Given the description of an element on the screen output the (x, y) to click on. 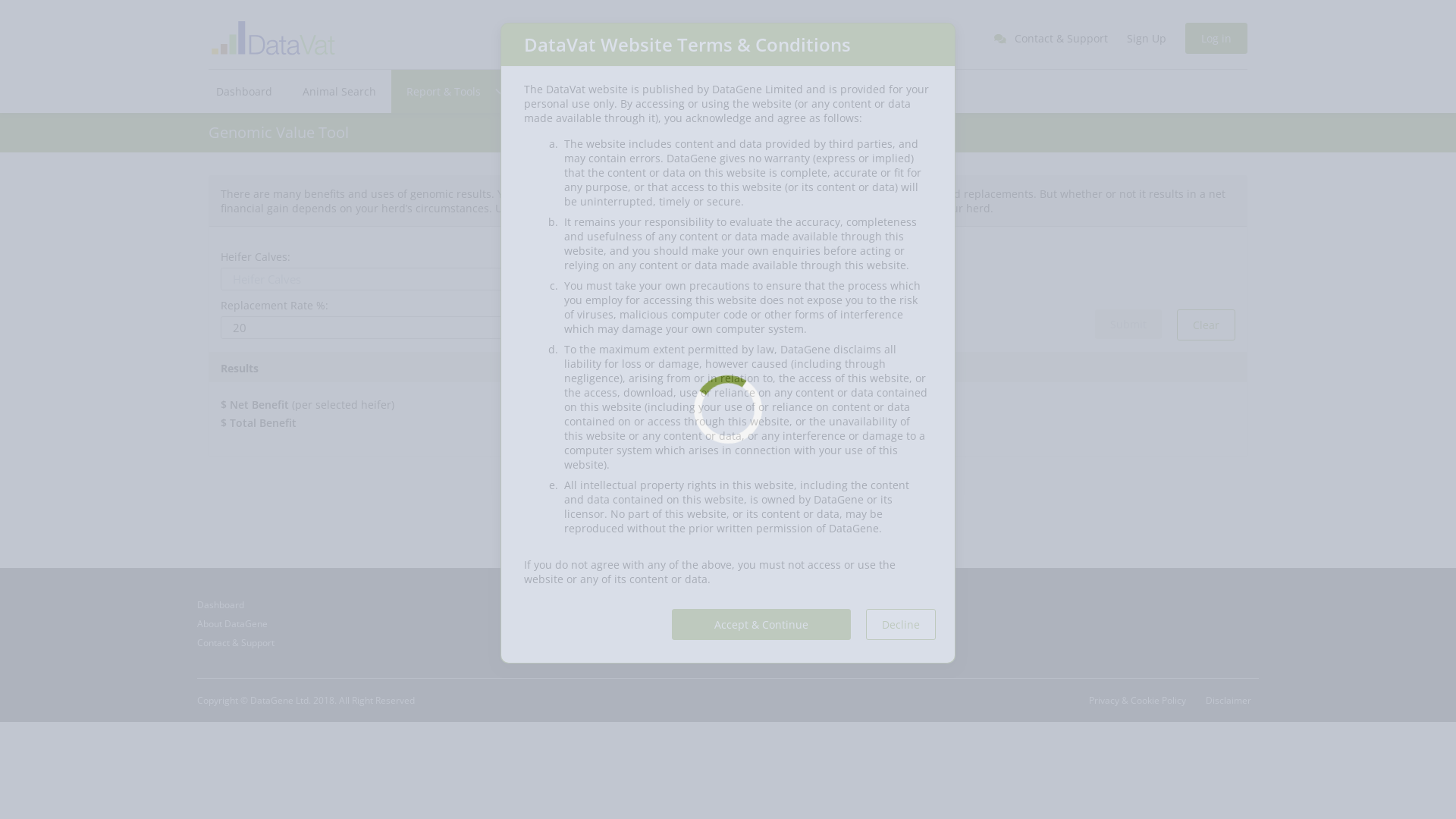
About DataGene Element type: text (232, 623)
Dashboard Element type: text (247, 91)
Contact & Support Element type: text (1050, 38)
Decline Element type: text (900, 624)
Clear Element type: text (1205, 324)
Skip to main content Element type: text (0, 0)
Accept & Continue Element type: text (760, 624)
Dashboard Element type: text (220, 604)
ABV List Element type: text (546, 91)
Submit Element type: text (1128, 323)
Privacy & Cookie Policy Element type: text (1134, 699)
Report & Tools Element type: text (451, 91)
Log in Element type: text (1216, 37)
Home Element type: hover (273, 36)
Animal Search Element type: text (339, 91)
Contact & Support Element type: text (235, 642)
Help Element type: text (615, 91)
Disclaimer Element type: text (1225, 699)
Sign Up Element type: text (1146, 38)
